Given the description of an element on the screen output the (x, y) to click on. 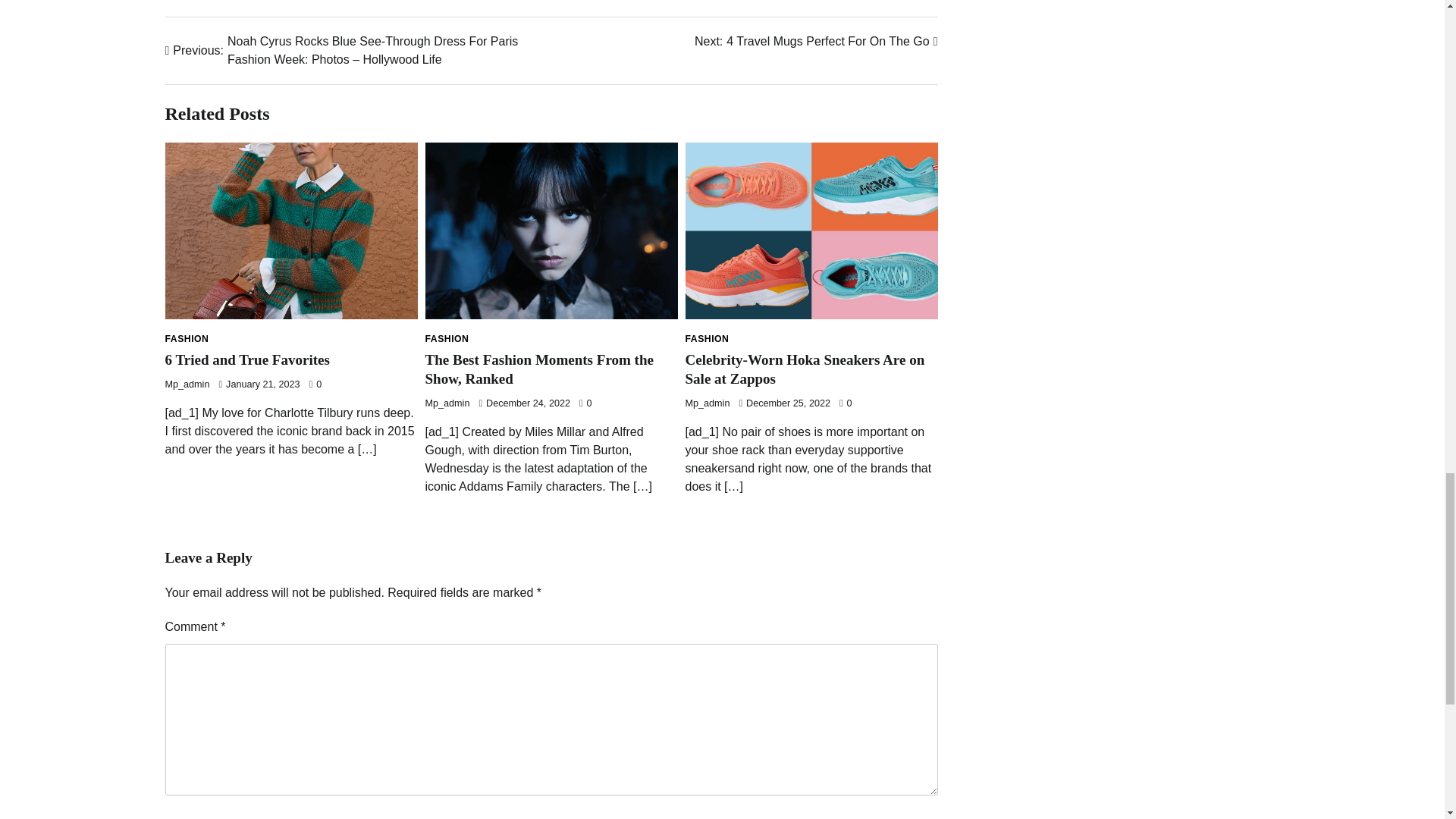
FASHION (187, 338)
FASHION (815, 41)
6 Tried and True Favorites (446, 338)
FASHION (247, 359)
The Best Fashion Moments From the Show, Ranked (707, 338)
Celebrity-Worn Hoka Sneakers Are on Sale at Zappos (539, 369)
